Given the description of an element on the screen output the (x, y) to click on. 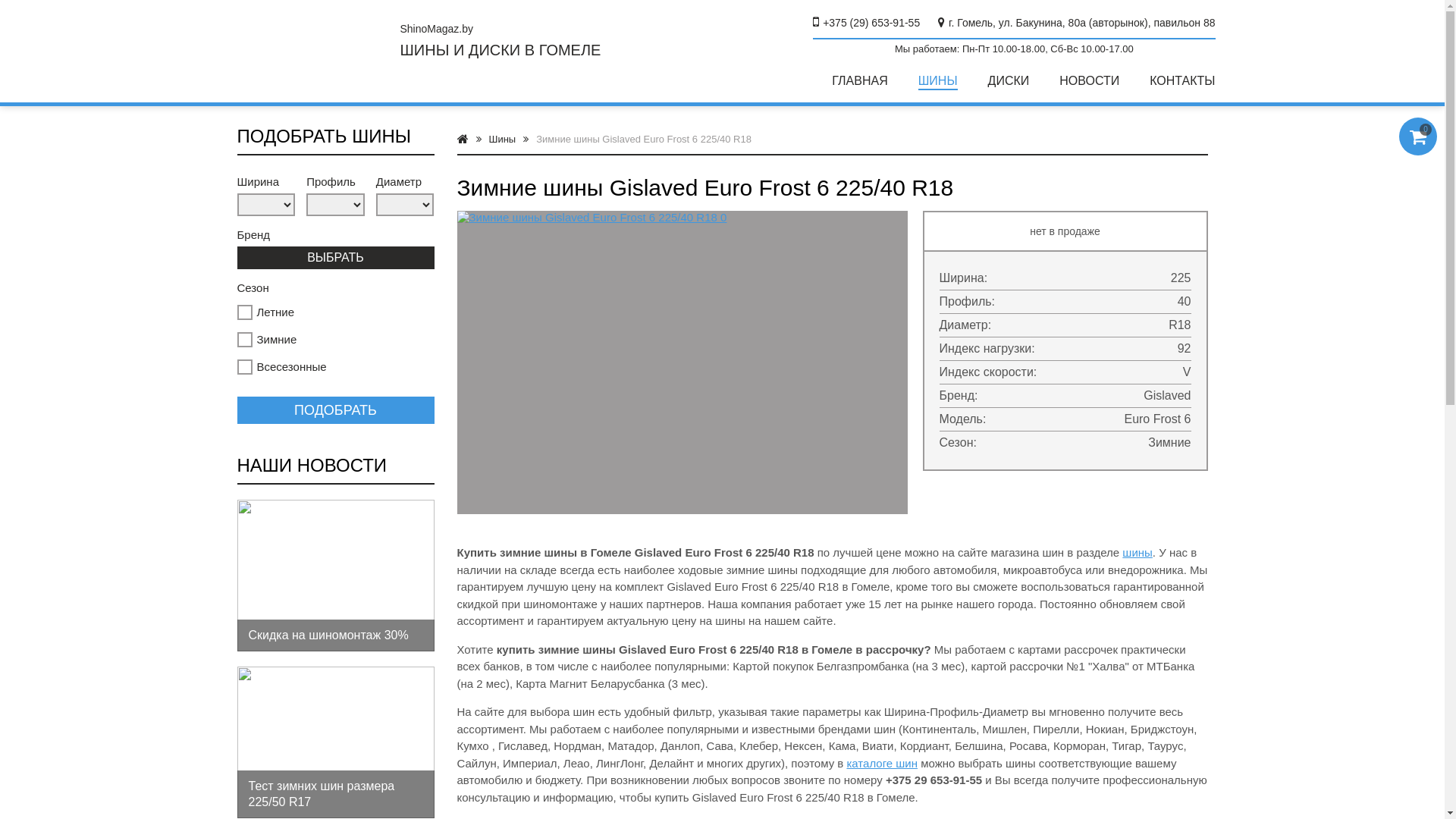
0 Element type: text (1418, 136)
+375 (29) 653-91-55 Element type: text (865, 22)
